Given the description of an element on the screen output the (x, y) to click on. 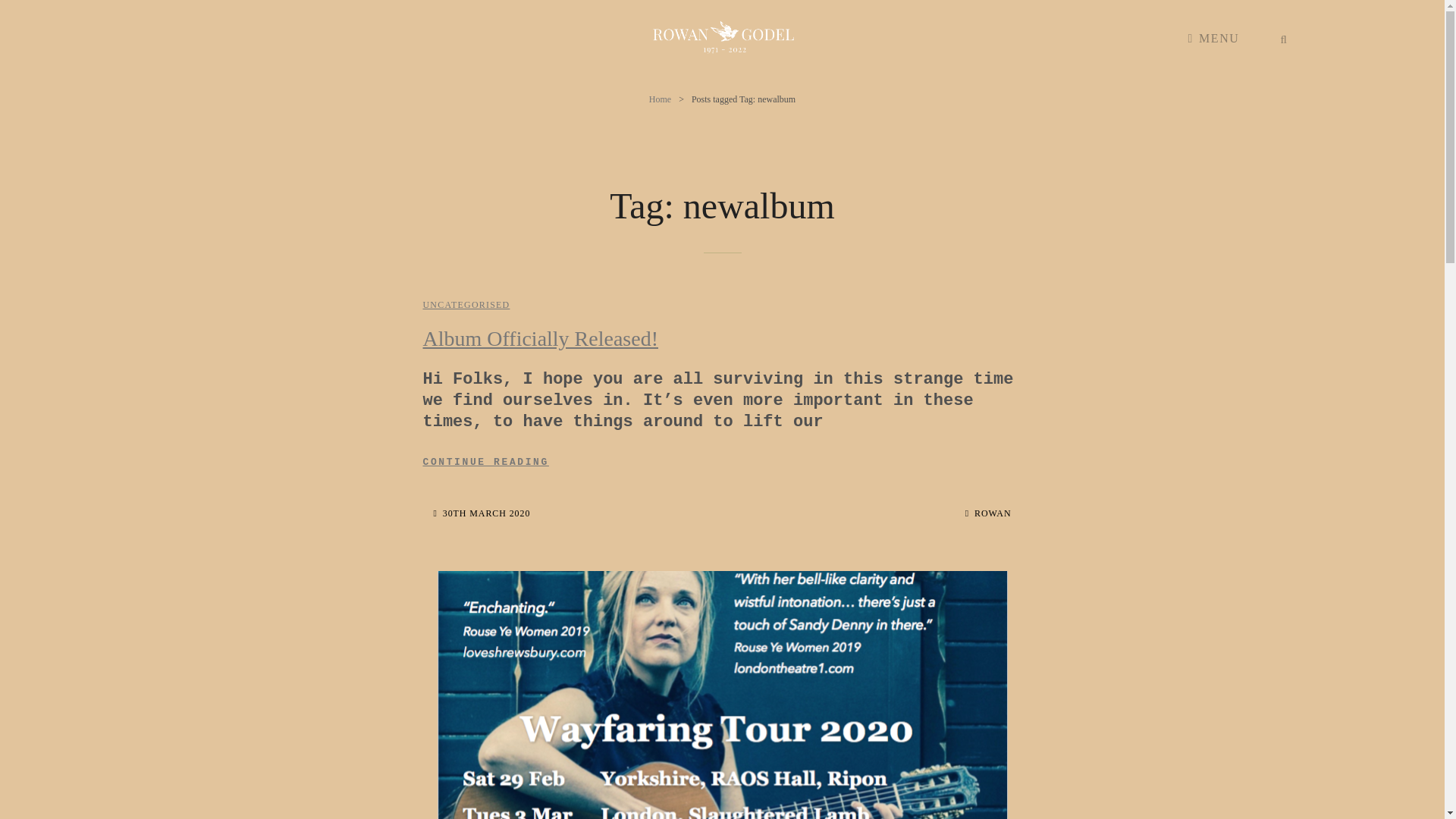
30TH MARCH 2020 (482, 512)
MENU (722, 462)
ROWAN (1213, 38)
SEARCH (988, 512)
Album Officially Released! (1283, 39)
Home (541, 338)
Home of Rowan Godel - singer-songwriter, actor, teacher (660, 99)
UNCATEGORISED (721, 37)
